Given the description of an element on the screen output the (x, y) to click on. 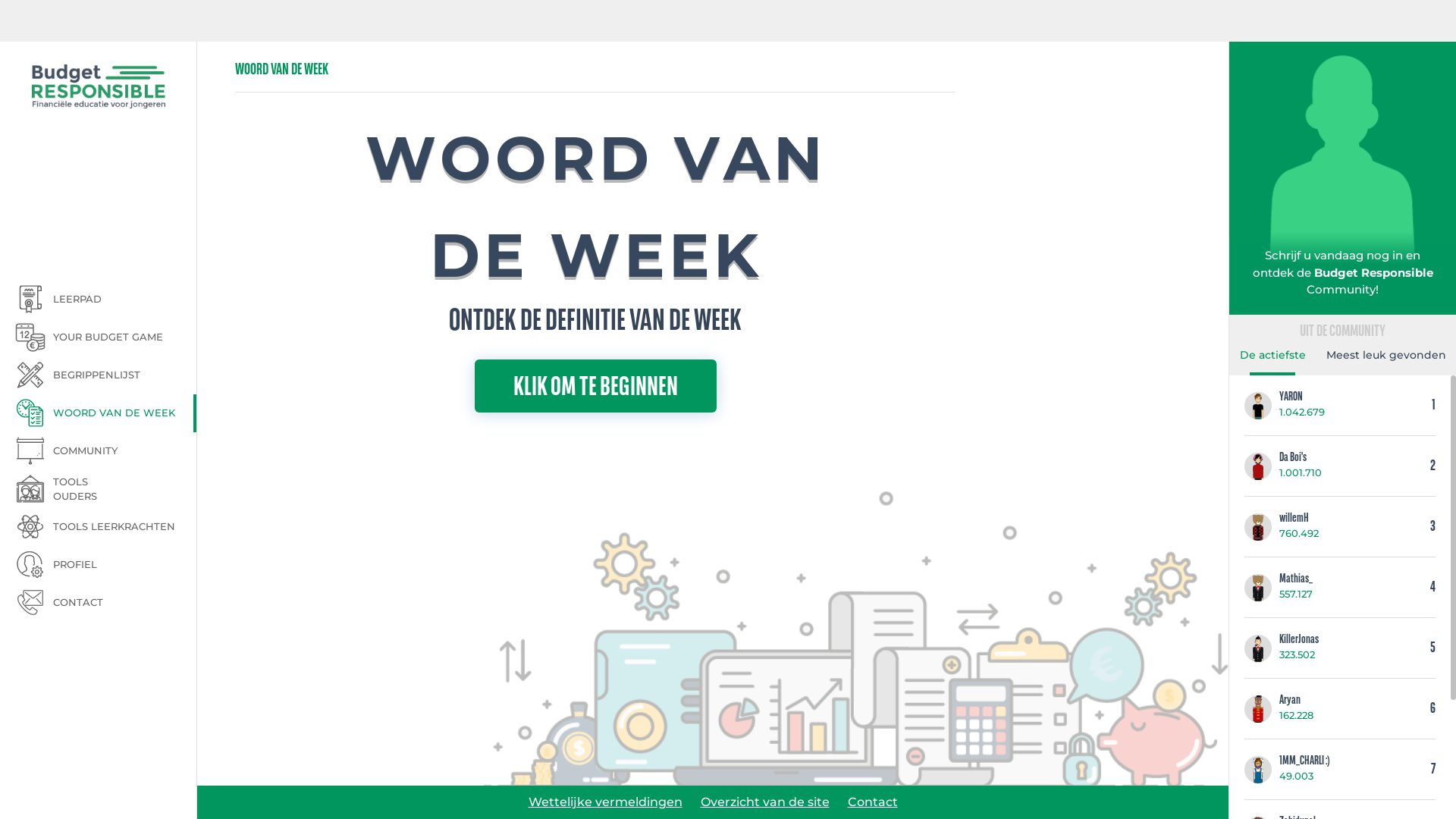
COMMUNITY Element type: text (105, 451)
Overzicht van de site Element type: text (765, 801)
Wettelijke vermeldingen Element type: text (604, 801)
PROFIEL Element type: text (105, 564)
YOUR BUDGET GAME Element type: text (105, 337)
Contact Element type: text (872, 801)
LEERPAD Element type: text (105, 299)
BEGRIPPENLIJST Element type: text (105, 375)
WOORD VAN DE WEEK Element type: text (105, 413)
CONTACT Element type: text (105, 602)
KLIK OM TE BEGINNEN Element type: text (595, 385)
TOOLS
OUDERS Element type: text (105, 489)
TOOLS LEERKRACHTEN Element type: text (105, 527)
